Given the description of an element on the screen output the (x, y) to click on. 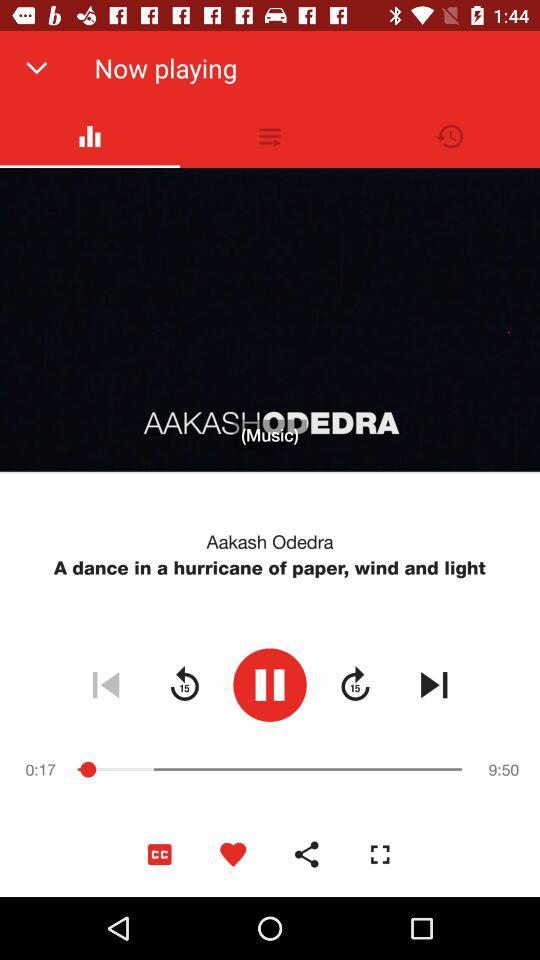
click on the options icon (269, 135)
select the fourth option from the last (159, 854)
select a pause button on page (269, 684)
select go back symbol which is before play symbol (184, 684)
select the black color text which is below aakash odedra (269, 567)
